Given the description of an element on the screen output the (x, y) to click on. 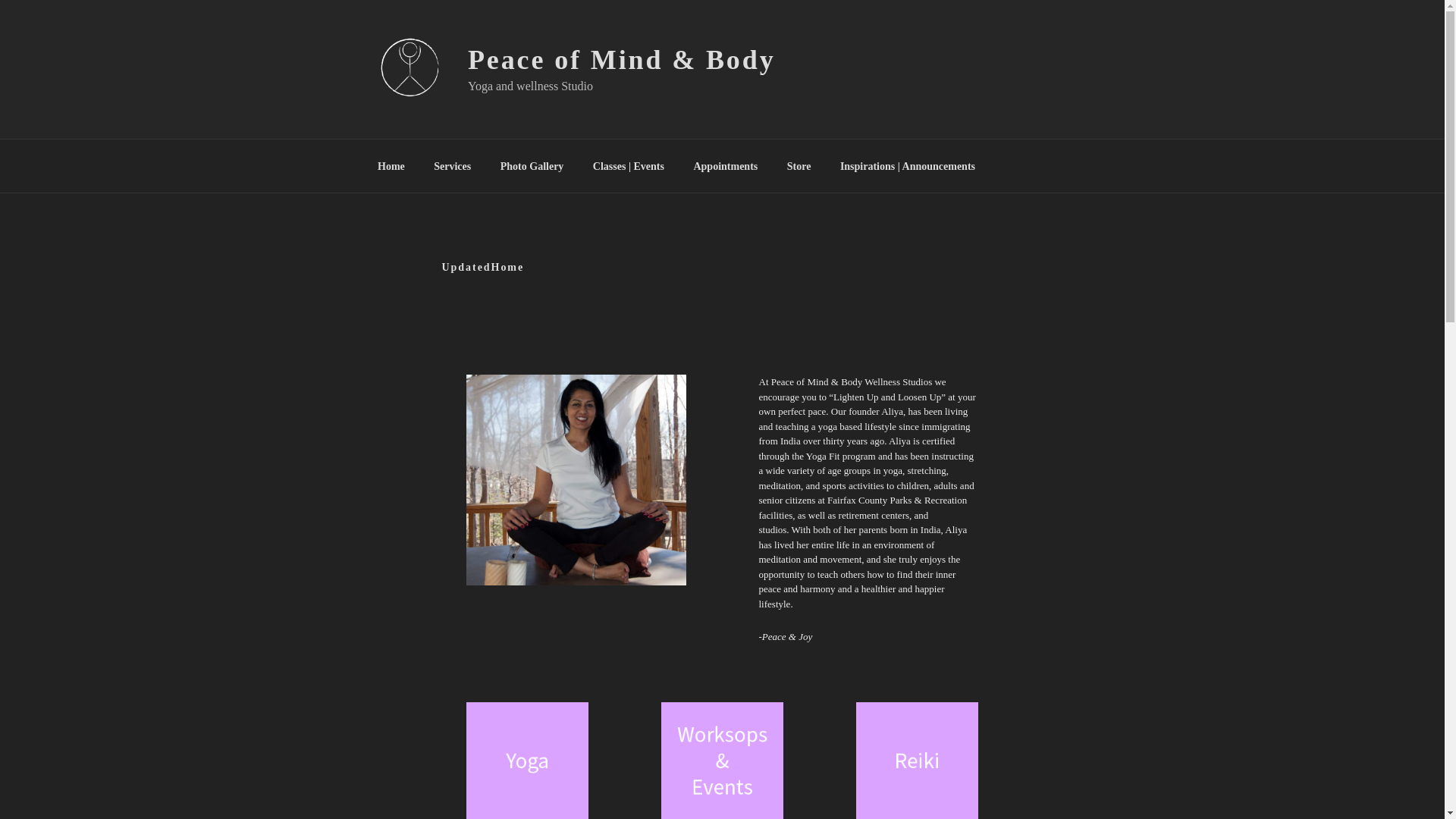
Photo Gallery (531, 165)
Appointments (725, 165)
Home (390, 165)
Services (452, 165)
Store (798, 165)
